Given the description of an element on the screen output the (x, y) to click on. 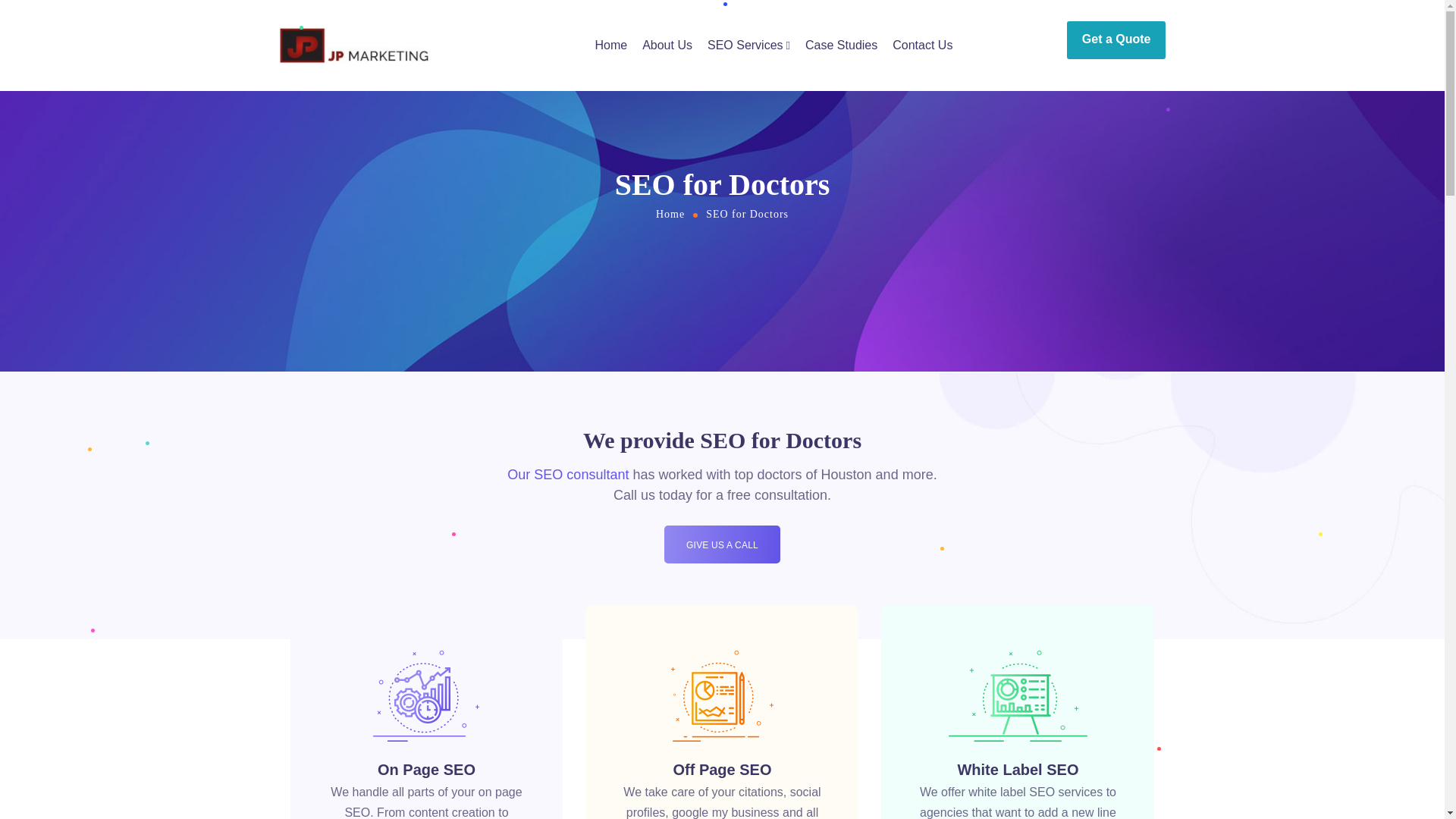
JP Marketing - SEO specialist in Houston, Texas (355, 45)
Contact Us (922, 45)
SEO Services (748, 45)
Our SEO consultant (567, 474)
On Page SEO (426, 769)
Home (670, 214)
GIVE US A CALL (721, 544)
Get a Quote (1116, 39)
Case Studies (841, 45)
